Given the description of an element on the screen output the (x, y) to click on. 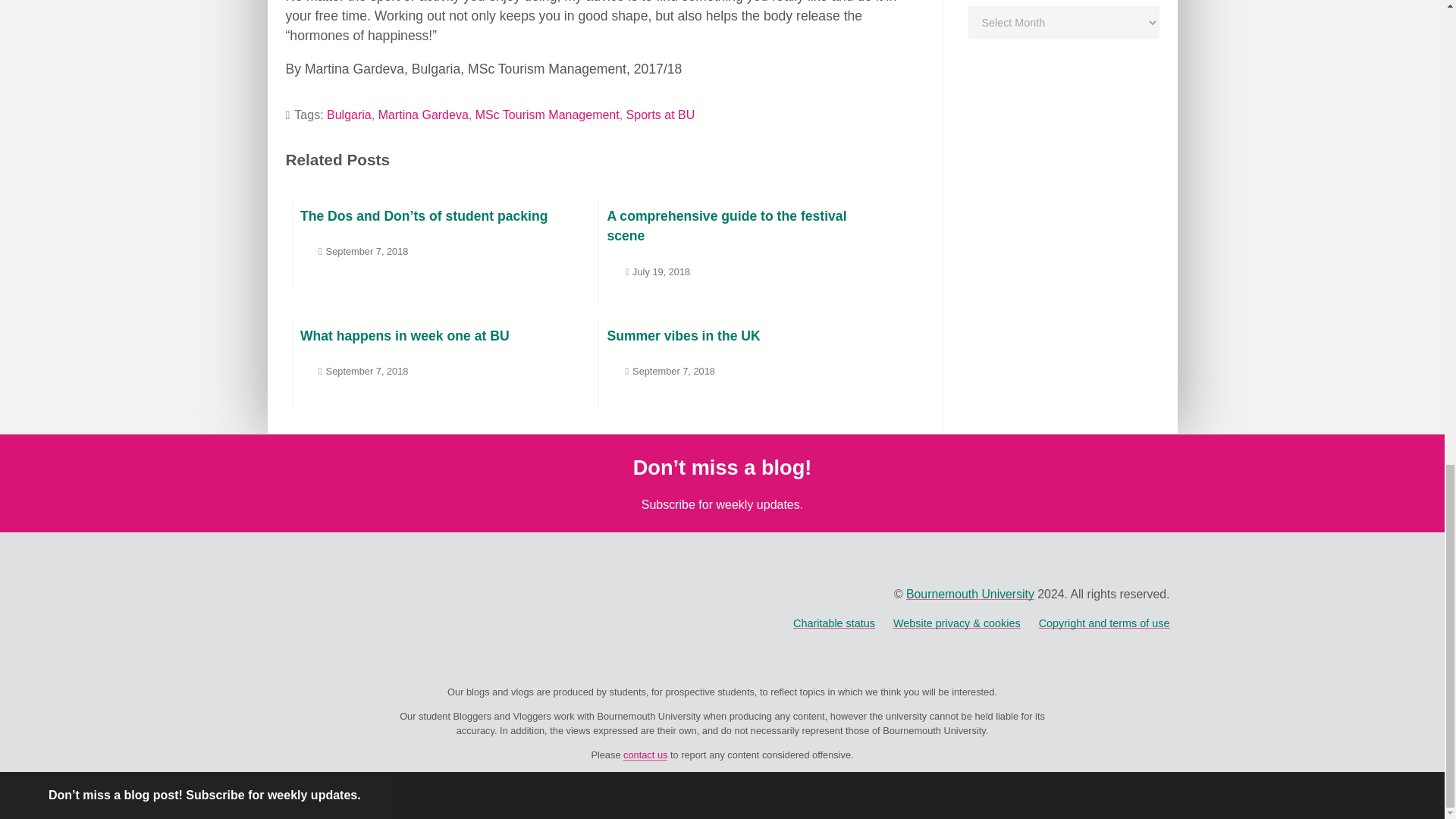
Bournemouth University homepage (969, 594)
